Given the description of an element on the screen output the (x, y) to click on. 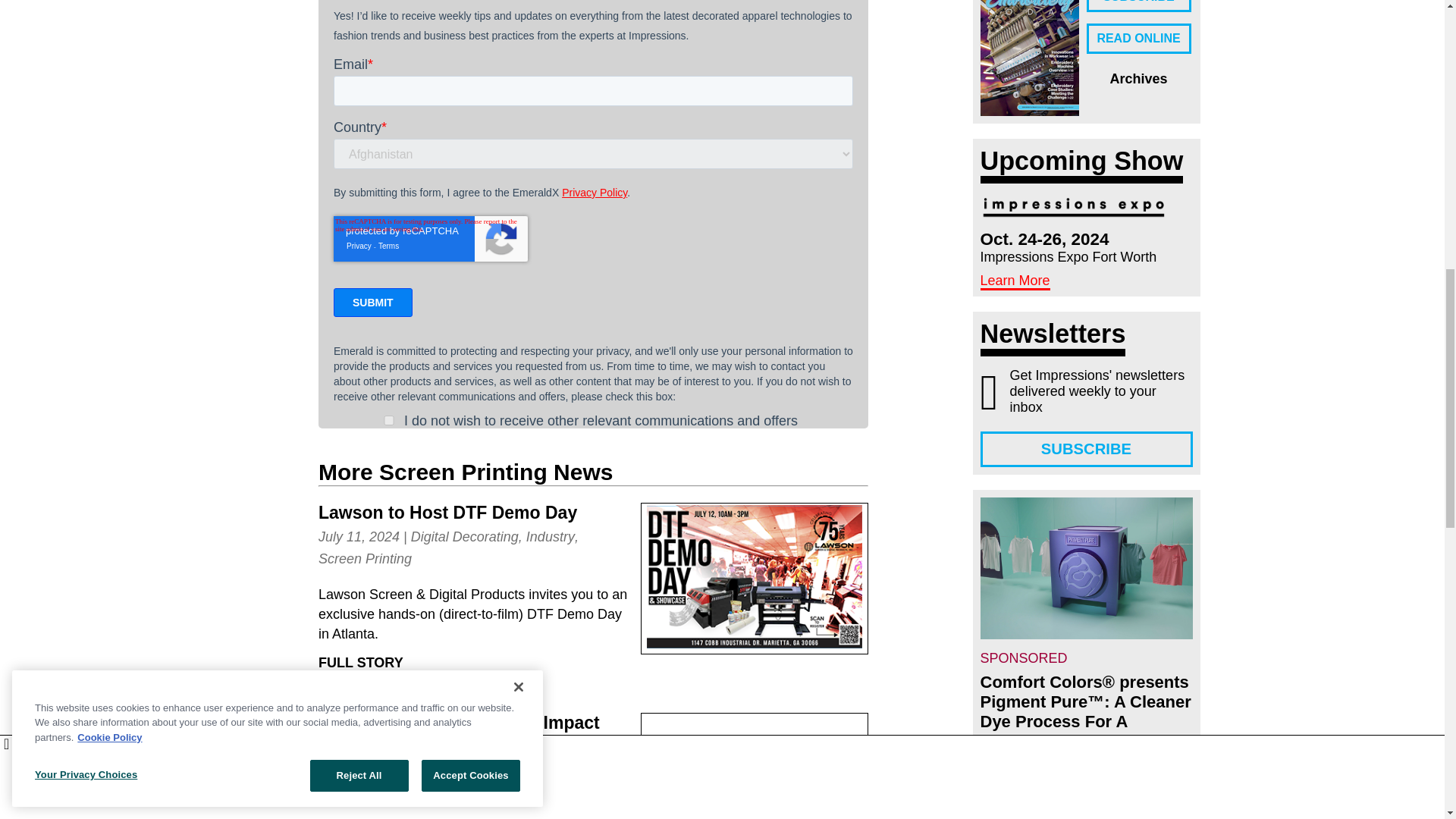
SUBMIT (372, 302)
reCAPTCHA (430, 238)
I do not wish to receive other relevant communications (388, 420)
